Given the description of an element on the screen output the (x, y) to click on. 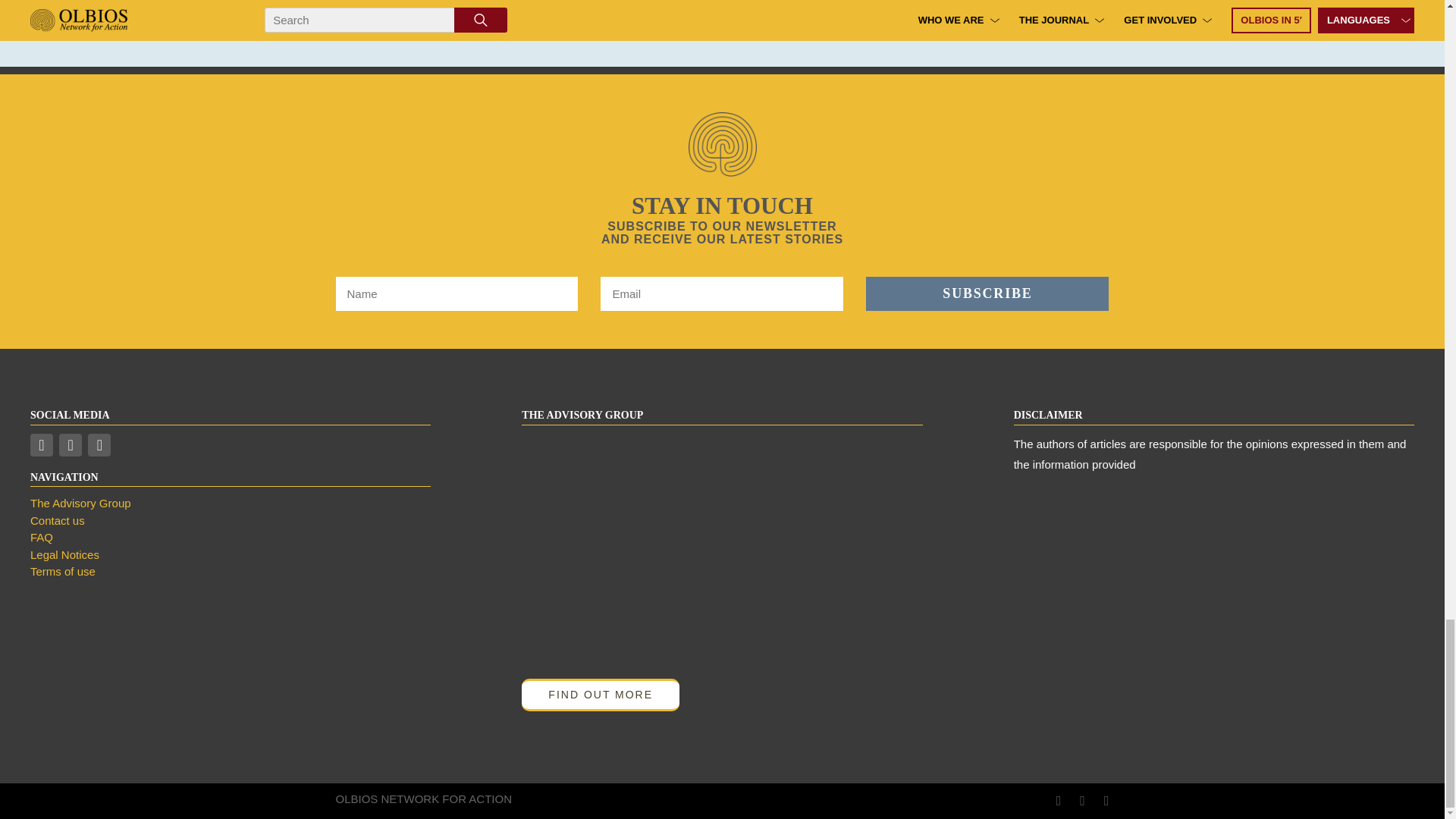
Subscribe (987, 293)
